Given the description of an element on the screen output the (x, y) to click on. 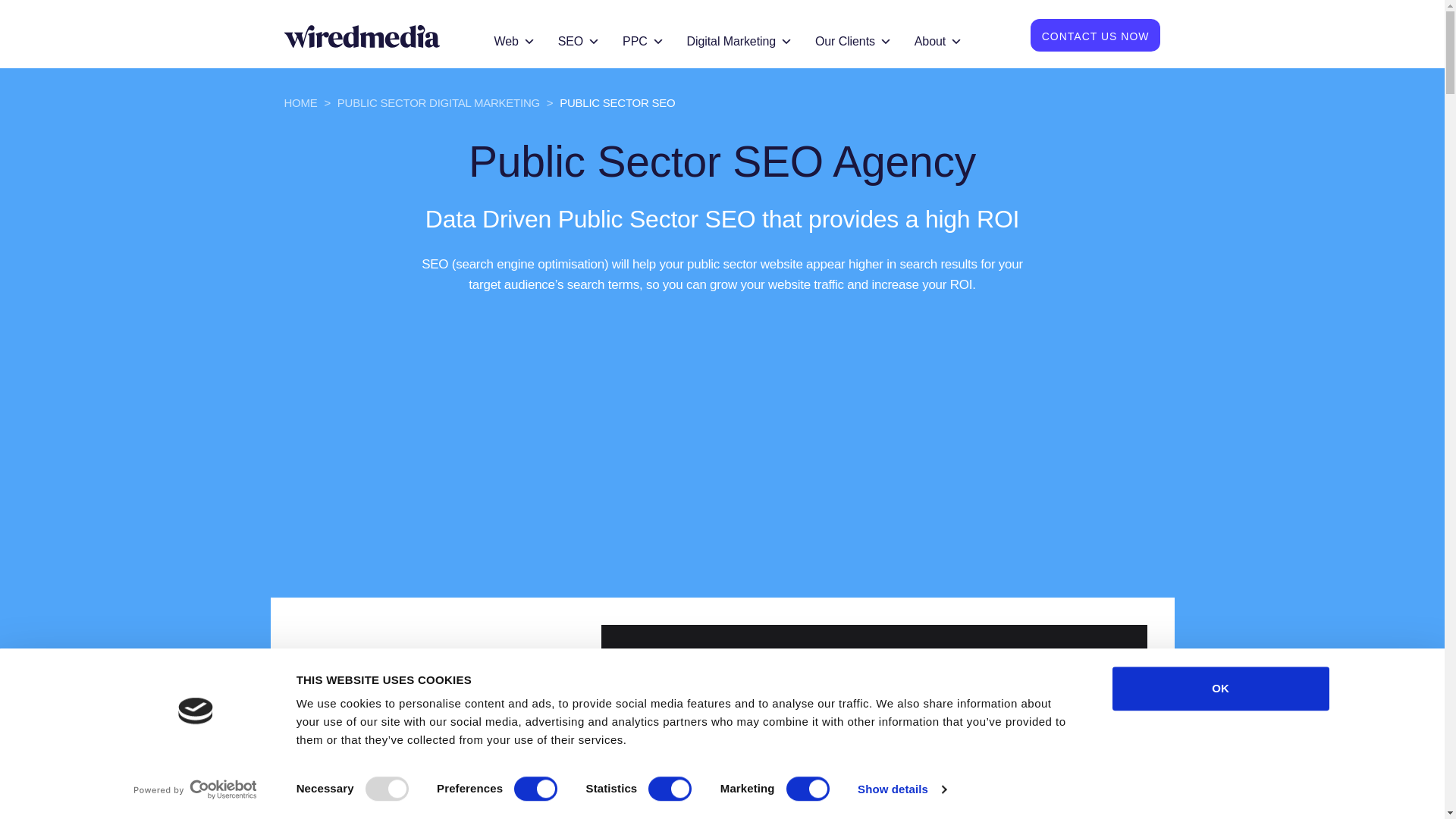
Return to homepage (361, 35)
Show details (900, 789)
